Given the description of an element on the screen output the (x, y) to click on. 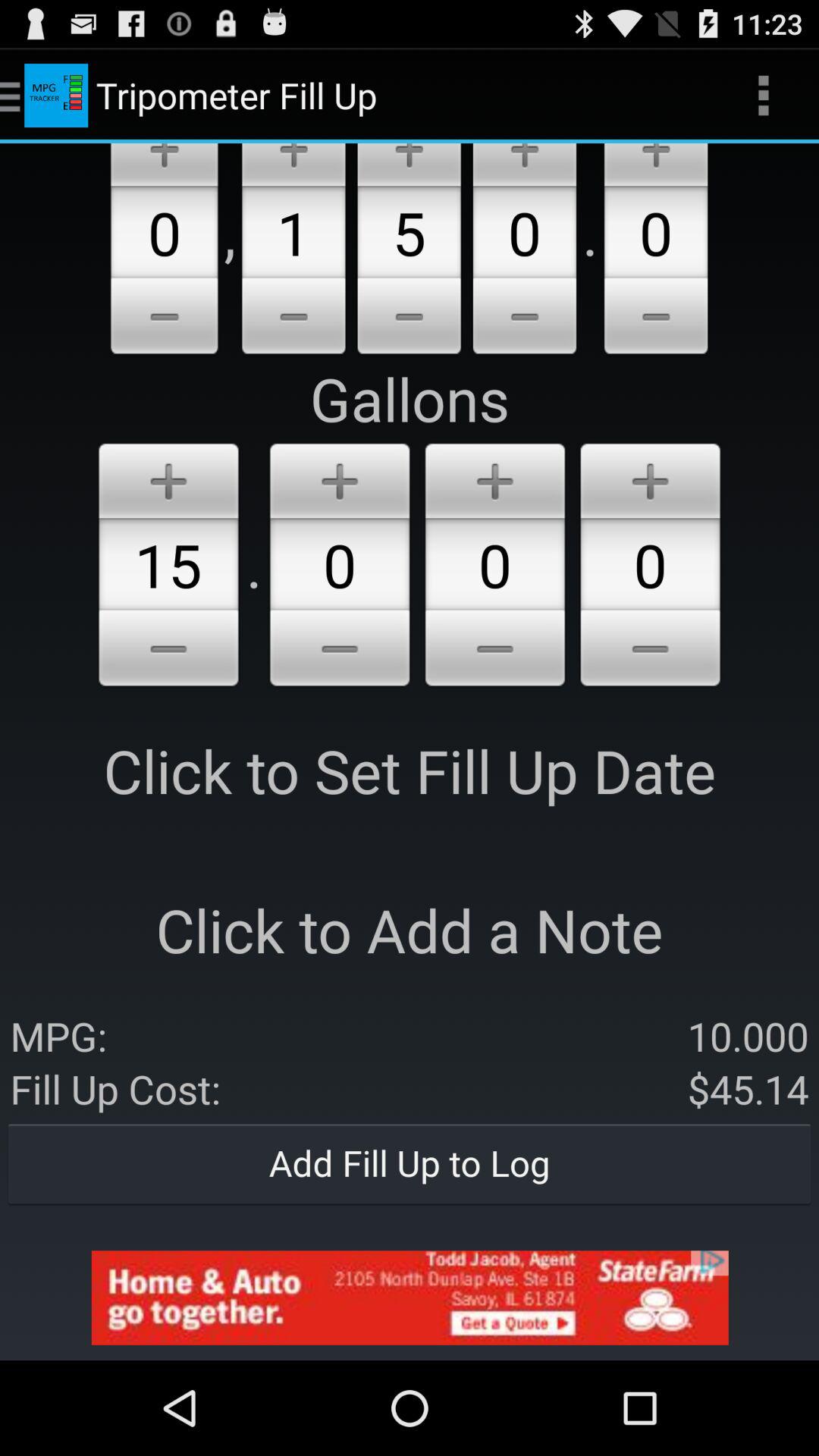
plus (650, 478)
